Given the description of an element on the screen output the (x, y) to click on. 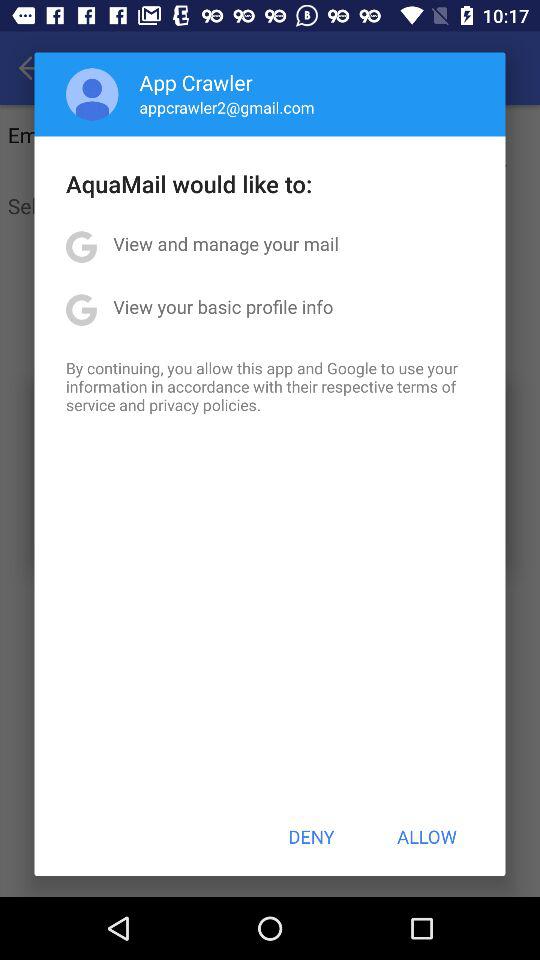
press the icon above view your basic (225, 243)
